Given the description of an element on the screen output the (x, y) to click on. 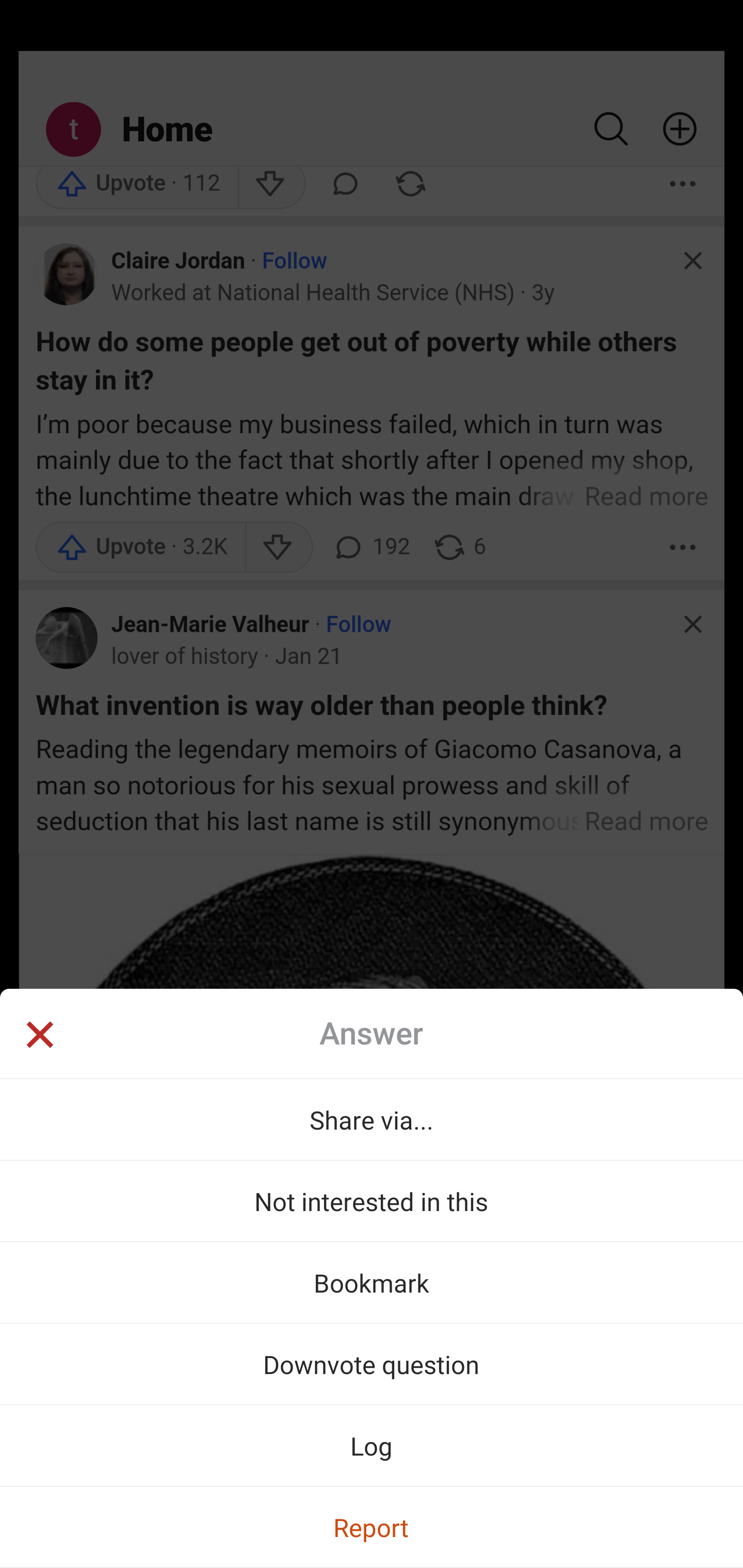
 Answer (371, 1033)
 (39, 1036)
Share via... (371, 1119)
Not interested in this (371, 1200)
Bookmark (371, 1282)
Downvote question (371, 1363)
Log (371, 1445)
Report (371, 1527)
